Given the description of an element on the screen output the (x, y) to click on. 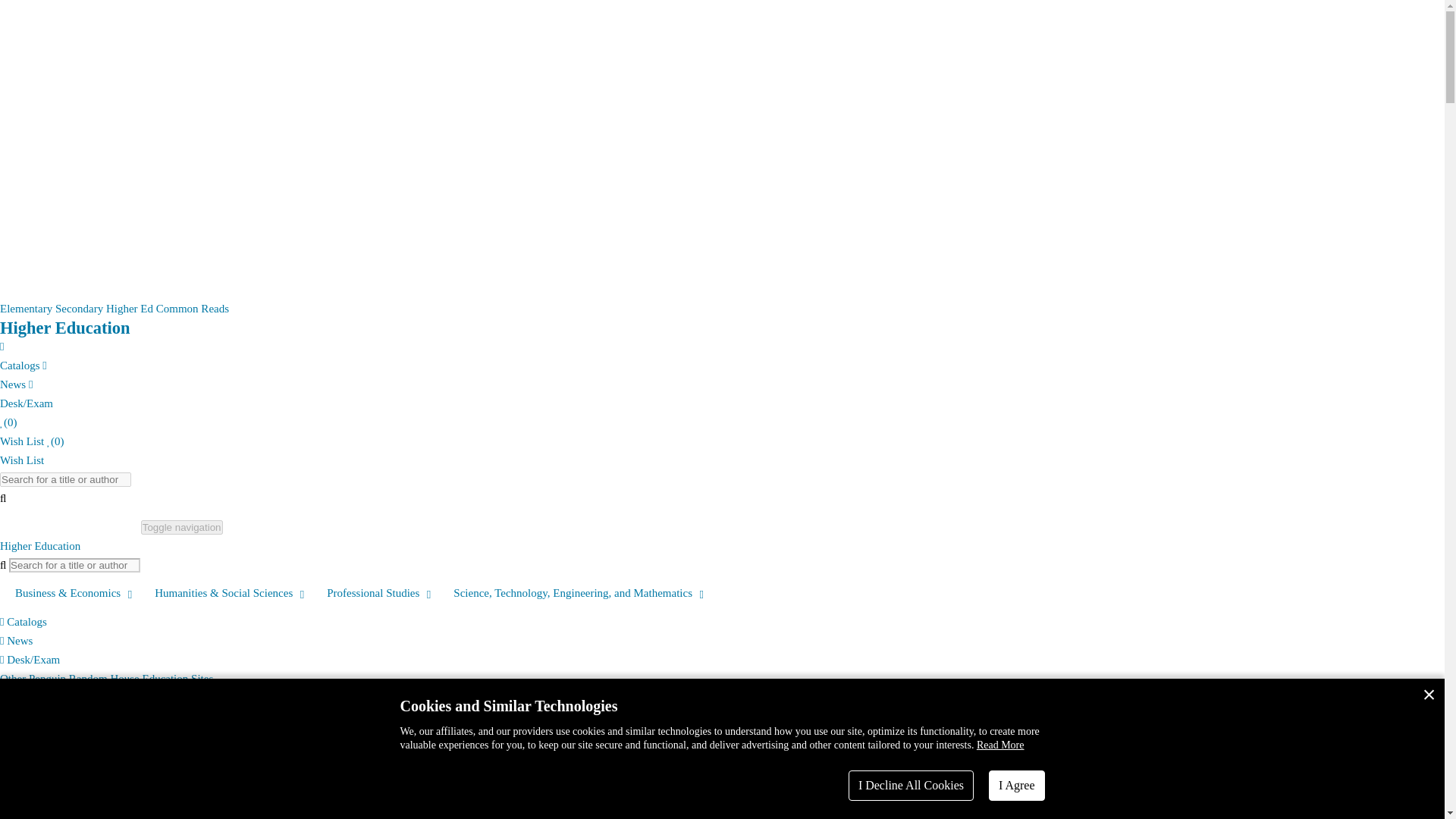
News (23, 374)
Catalogs (21, 355)
Higher Education (40, 545)
Elementary (26, 308)
Toggle navigation (181, 527)
Higher Ed (129, 308)
Higher Education (65, 327)
Secondary (79, 308)
Common Reads (191, 308)
